Given the description of an element on the screen output the (x, y) to click on. 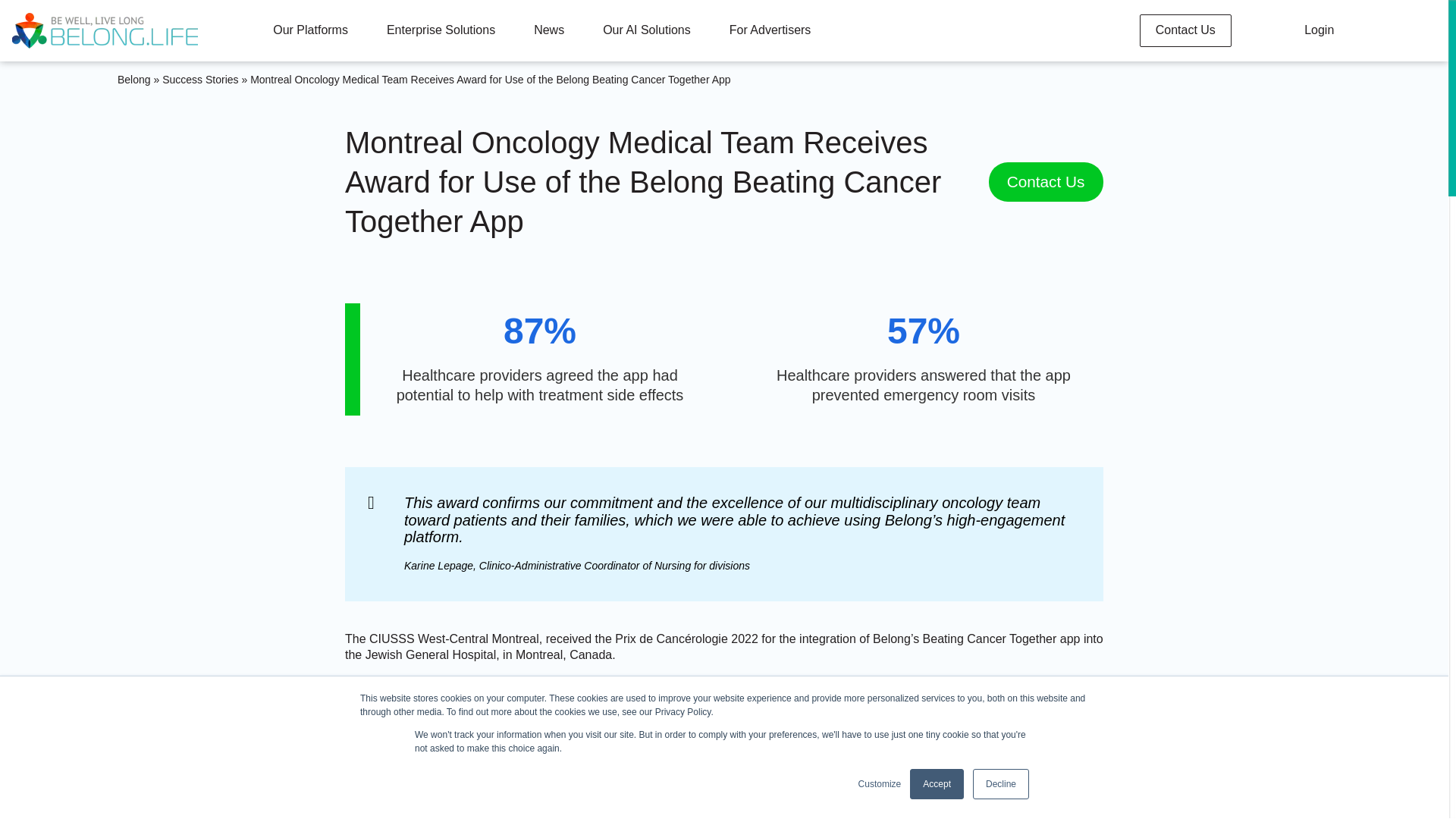
Accessibility Tools (16, 764)
For Advertisers (769, 30)
Customize (880, 784)
Our Platforms (16, 764)
Our AI Solutions (309, 30)
Accessibility Tools (646, 30)
Decline (16, 764)
Accept (1000, 784)
News (936, 784)
